Given the description of an element on the screen output the (x, y) to click on. 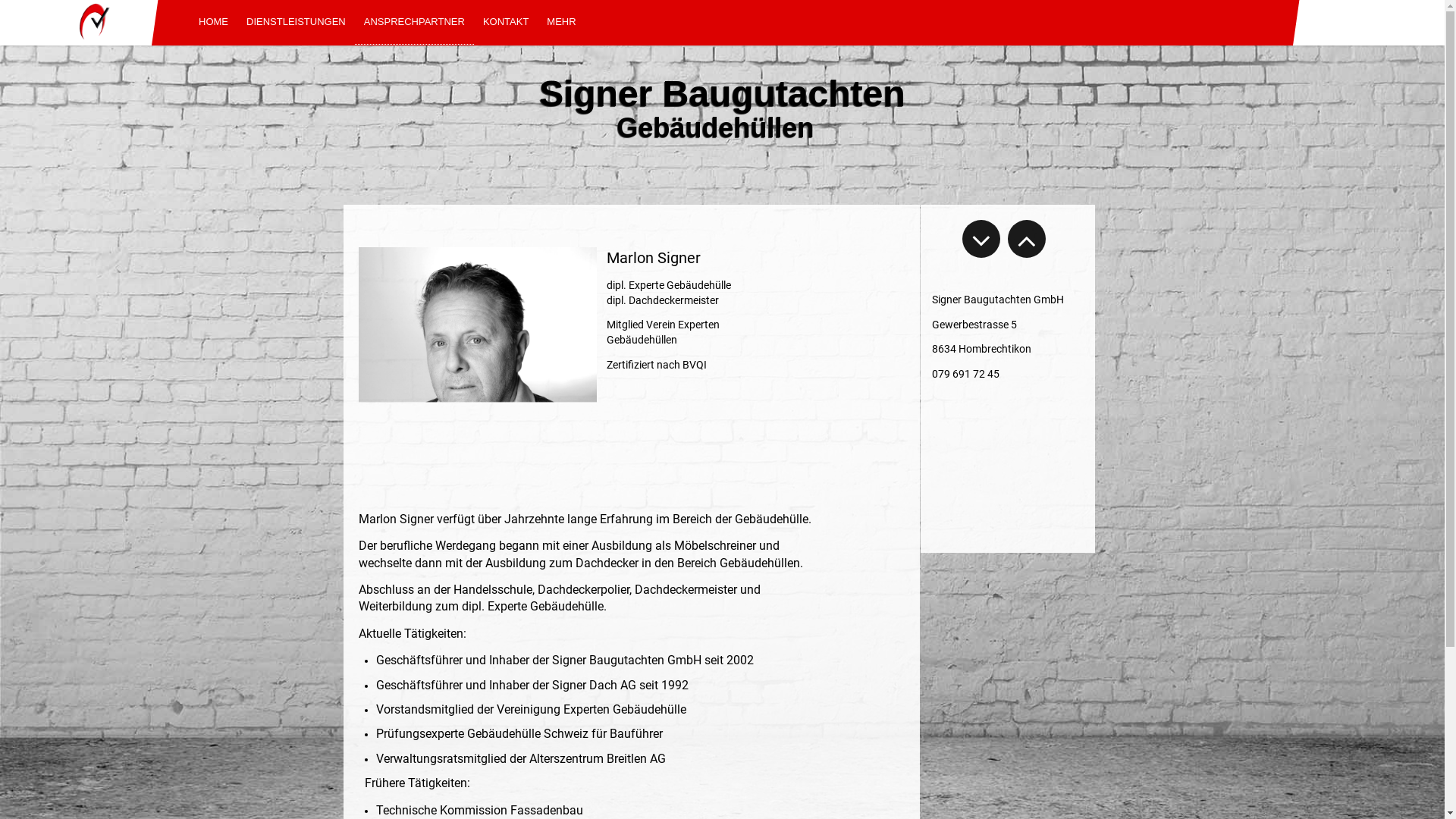
KONTAKT Element type: text (505, 22)
DIENSTLEISTUNGEN Element type: text (295, 22)
ANSPRECHPARTNER Element type: text (413, 22)
HOME Element type: text (213, 22)
MEHR Element type: text (560, 22)
